Given the description of an element on the screen output the (x, y) to click on. 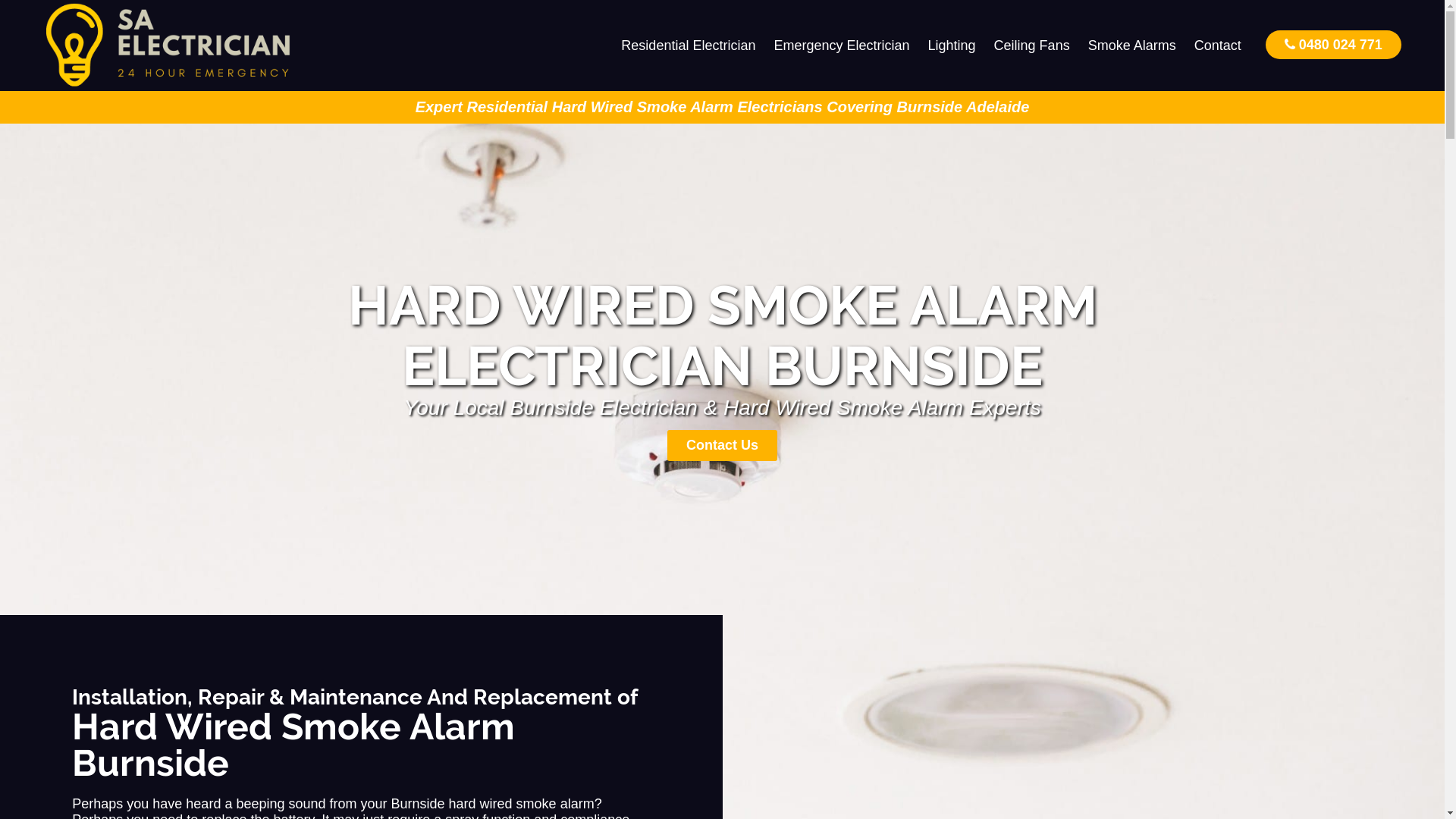
Residential Electrician Element type: text (687, 45)
Ceiling Fans Element type: text (1032, 45)
Smoke Alarms Element type: text (1132, 45)
0480 024 771 Element type: text (1333, 44)
Lighting Element type: text (952, 45)
Contact Element type: text (1217, 45)
Emergency Electrician Element type: text (841, 45)
Contact Us Element type: text (722, 445)
